Given the description of an element on the screen output the (x, y) to click on. 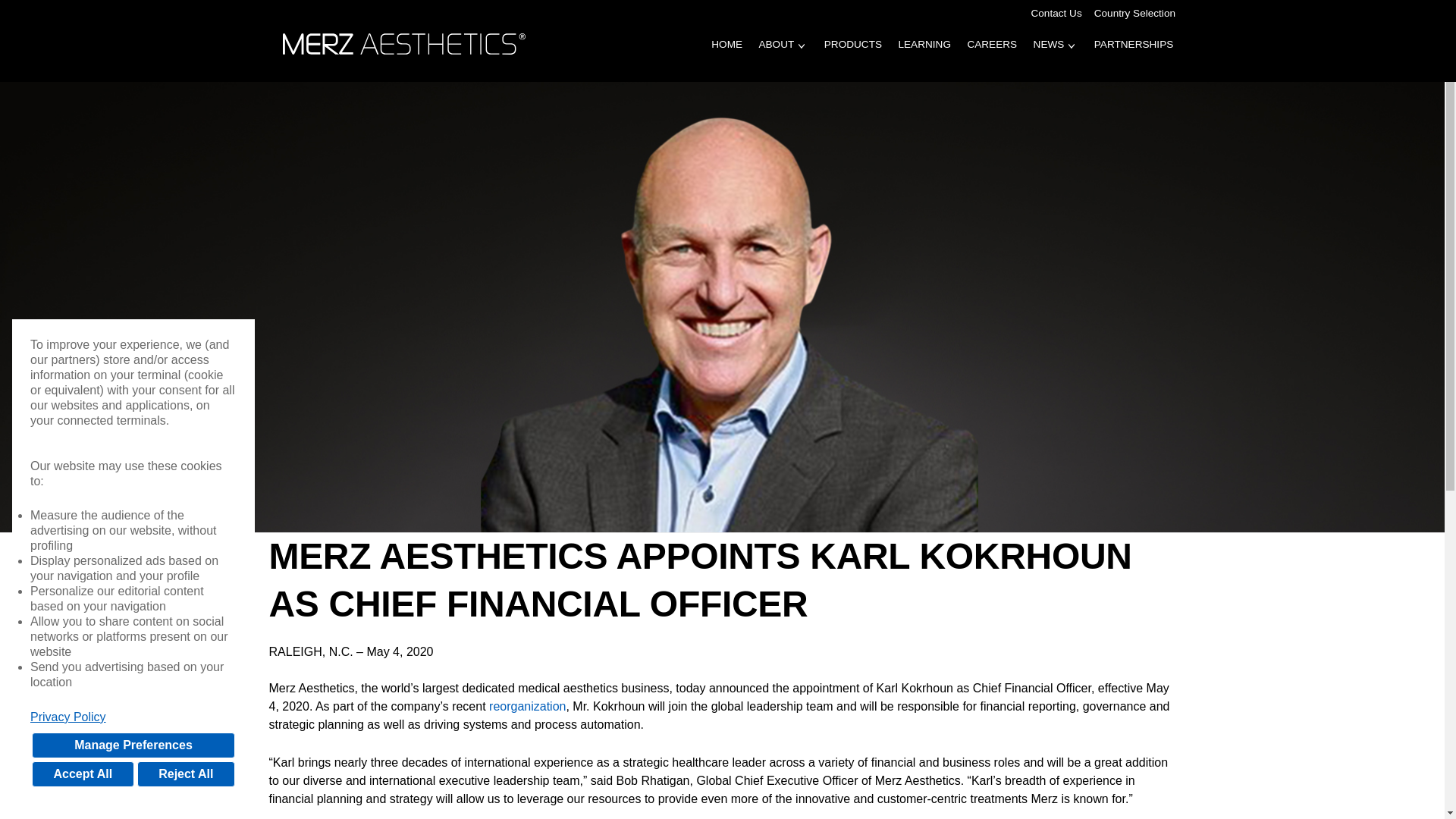
Reject All (185, 774)
Contact Us (1056, 13)
Skip to content (55, 4)
Manage Preferences (133, 745)
PARTNERSHIPS (1133, 54)
ABOUT (776, 54)
Country Selection (1133, 13)
Accept All (82, 774)
CAREERS (992, 54)
LEARNING (924, 54)
reorganization (527, 706)
Home (407, 42)
PRODUCTS (852, 54)
Privacy Policy (132, 717)
